Given the description of an element on the screen output the (x, y) to click on. 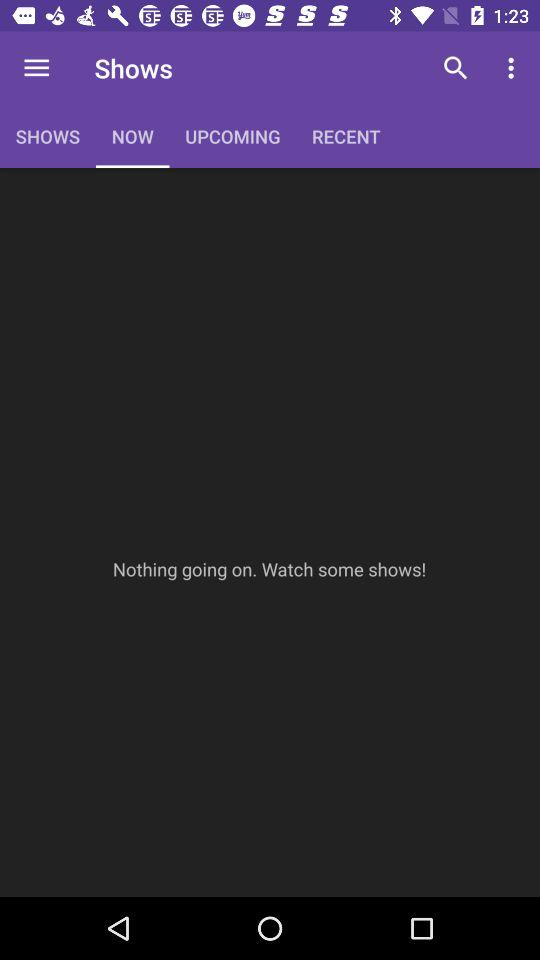
press the item next to the shows (36, 68)
